Given the description of an element on the screen output the (x, y) to click on. 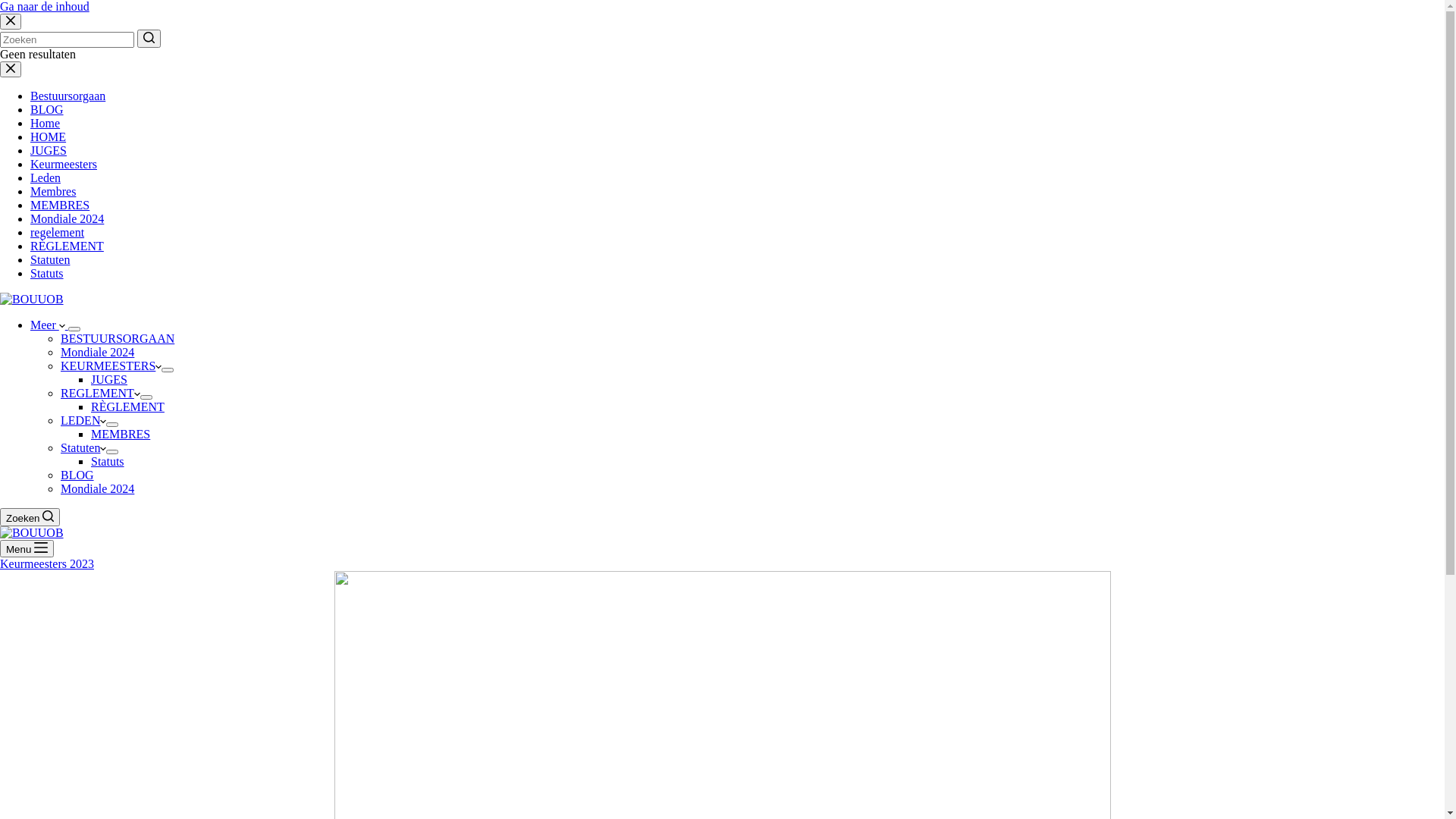
Membres Element type: text (52, 191)
Menu Element type: text (26, 548)
Leden Element type: text (45, 177)
JUGES Element type: text (48, 150)
regelement Element type: text (57, 231)
Mondiale 2024 Element type: text (97, 488)
HOME Element type: text (47, 136)
BLOG Element type: text (46, 109)
Mondiale 2024 Element type: text (66, 218)
Mondiale 2024 Element type: text (97, 351)
JUGES Element type: text (109, 379)
Zoek naar... Element type: hover (67, 39)
REGLEMENT Element type: text (100, 392)
Keurmeesters Element type: text (63, 163)
Statuten Element type: text (49, 259)
Ga naar de inhoud Element type: text (44, 6)
KEURMEESTERS Element type: text (110, 365)
Statuts Element type: text (107, 461)
LEDEN Element type: text (83, 420)
BLOG Element type: text (77, 474)
Home Element type: text (44, 122)
Meer Element type: text (49, 324)
BESTUURSORGAAN Element type: text (117, 338)
Zoeken Element type: text (29, 517)
MEMBRES Element type: text (59, 204)
Bestuursorgaan Element type: text (67, 95)
Keurmeesters 2023 Element type: text (47, 563)
Statuten Element type: text (83, 447)
MEMBRES Element type: text (120, 433)
Statuts Element type: text (46, 272)
